Given the description of an element on the screen output the (x, y) to click on. 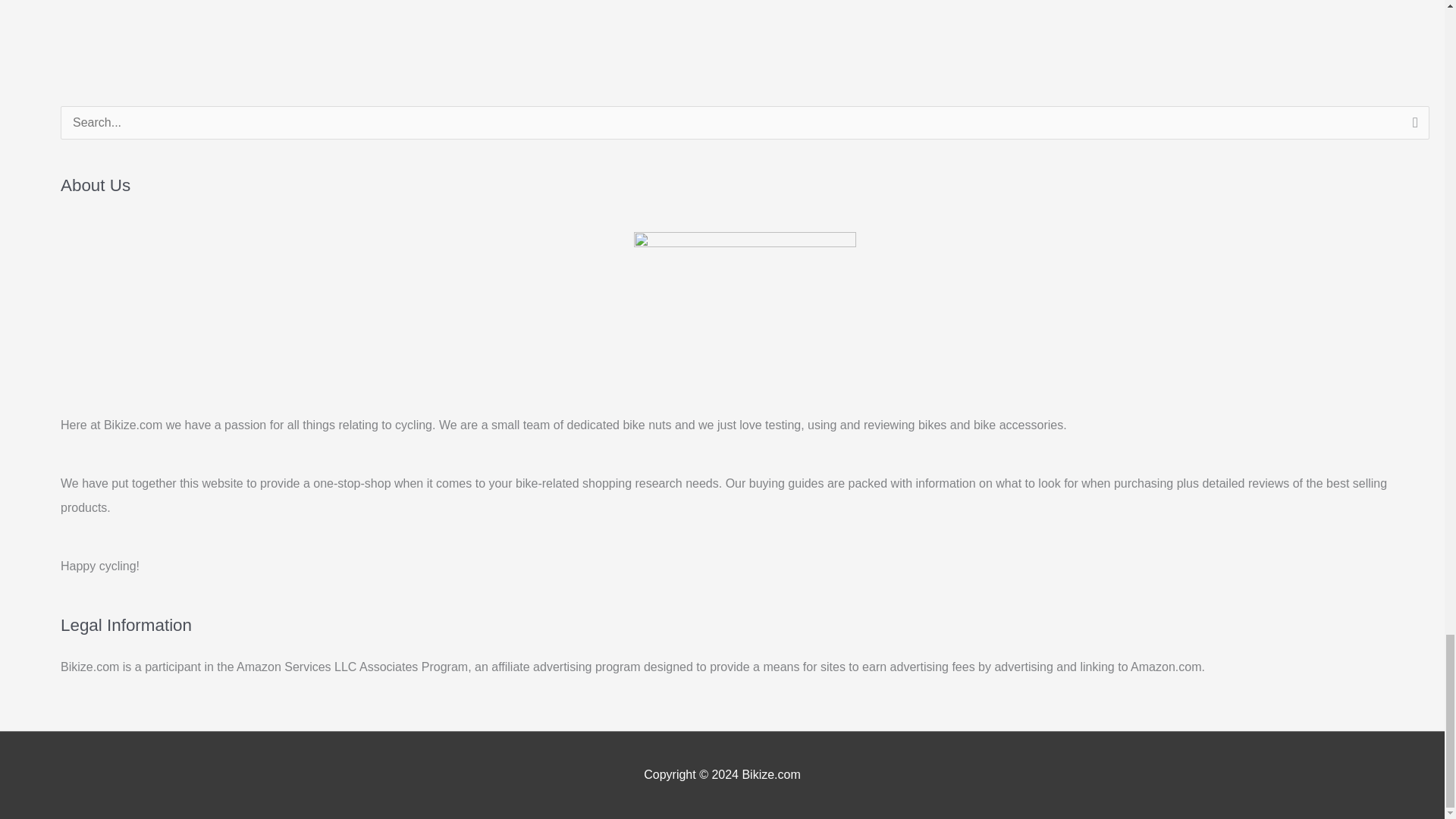
Search (1411, 127)
How to Find the Perfect Mountain Bike Seat Height (61, 3)
Search (1411, 127)
Search (1411, 127)
